Given the description of an element on the screen output the (x, y) to click on. 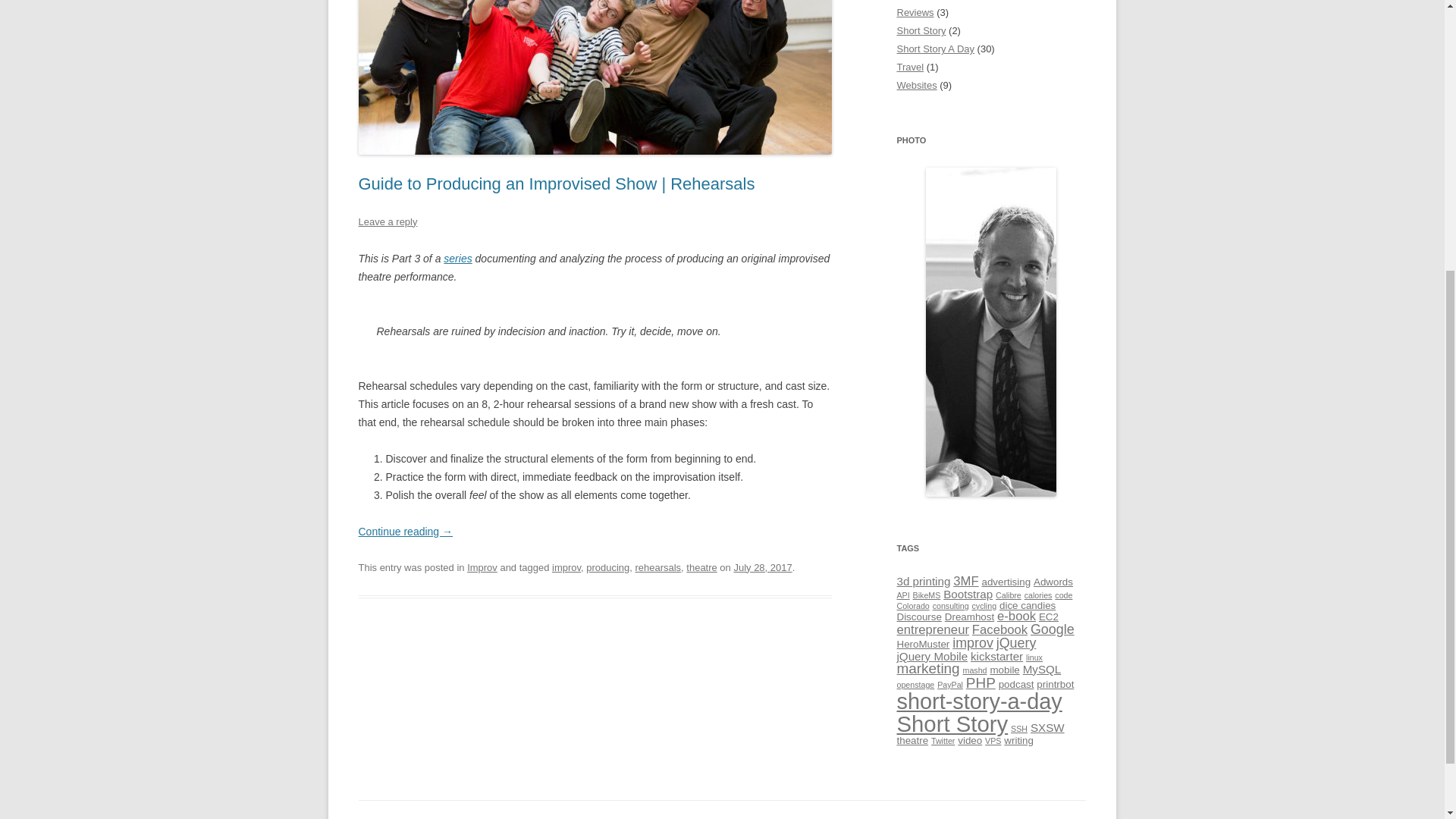
Websites (916, 84)
July 28, 2017 (762, 567)
theatre (700, 567)
advertising (1005, 582)
Improv (482, 567)
Short Story A Day (935, 48)
3d printing (923, 581)
Reviews (914, 12)
Leave a reply (387, 221)
improv (565, 567)
